Given the description of an element on the screen output the (x, y) to click on. 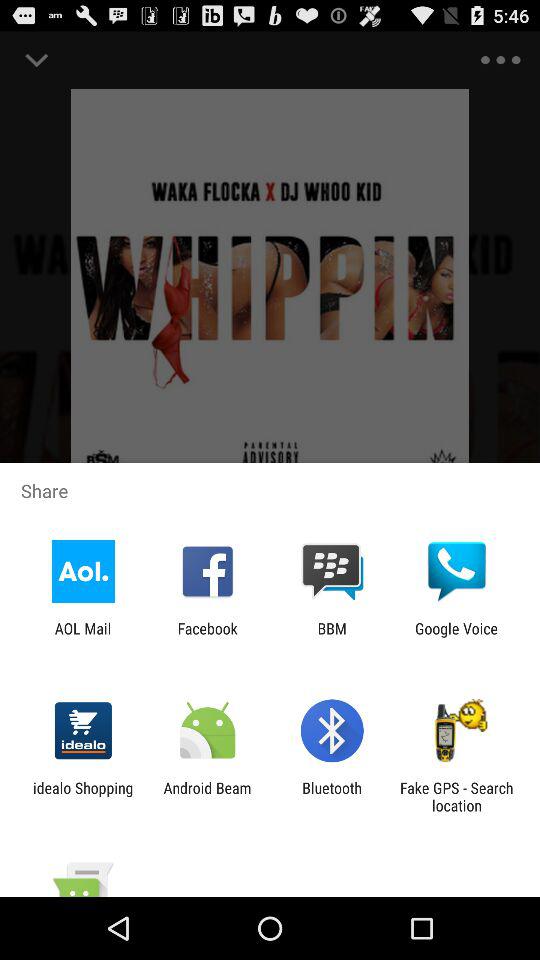
click the aol mail (82, 637)
